Given the description of an element on the screen output the (x, y) to click on. 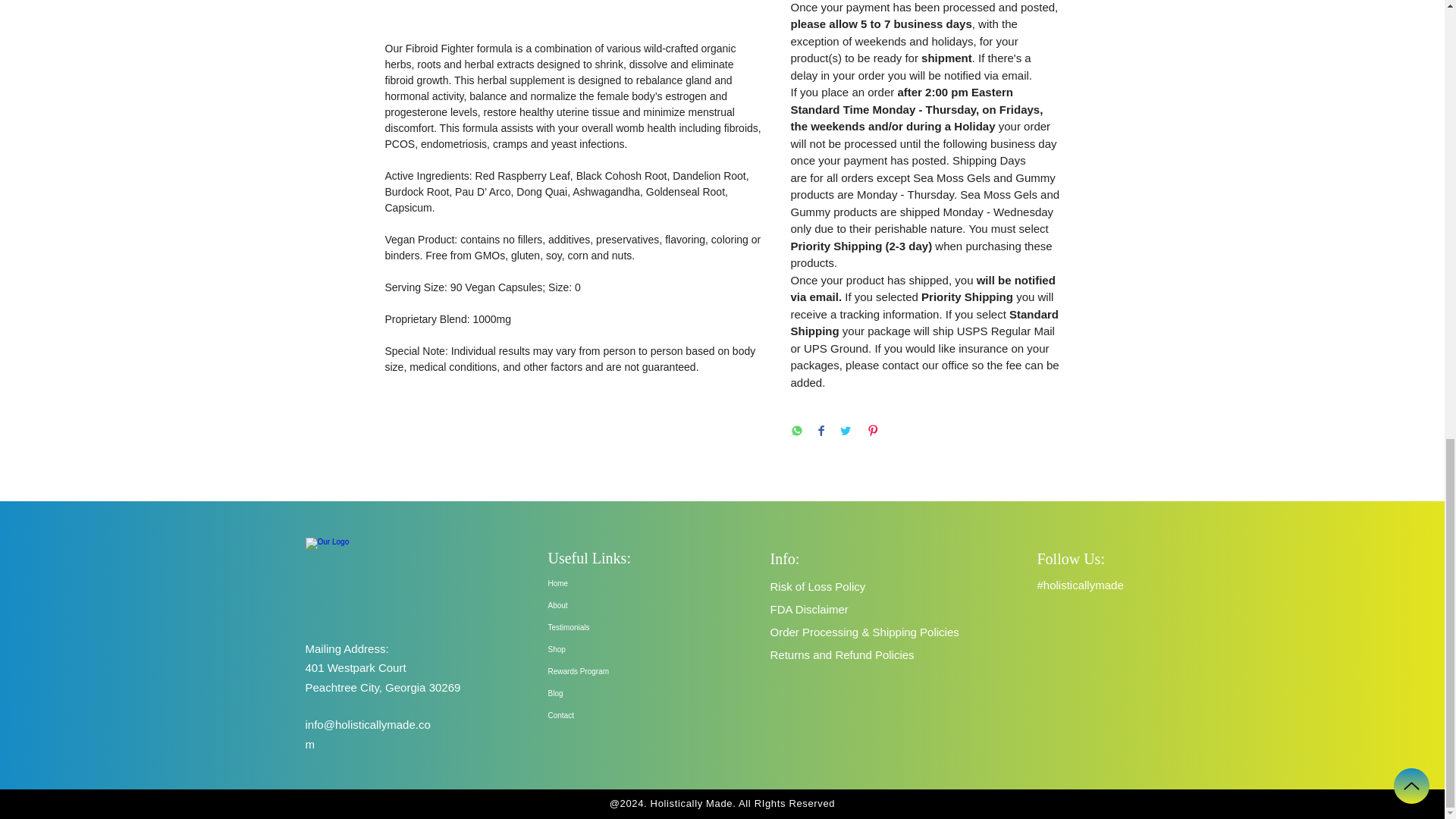
Testimonials (615, 627)
Shop (615, 649)
Home (615, 583)
About (615, 605)
